Given the description of an element on the screen output the (x, y) to click on. 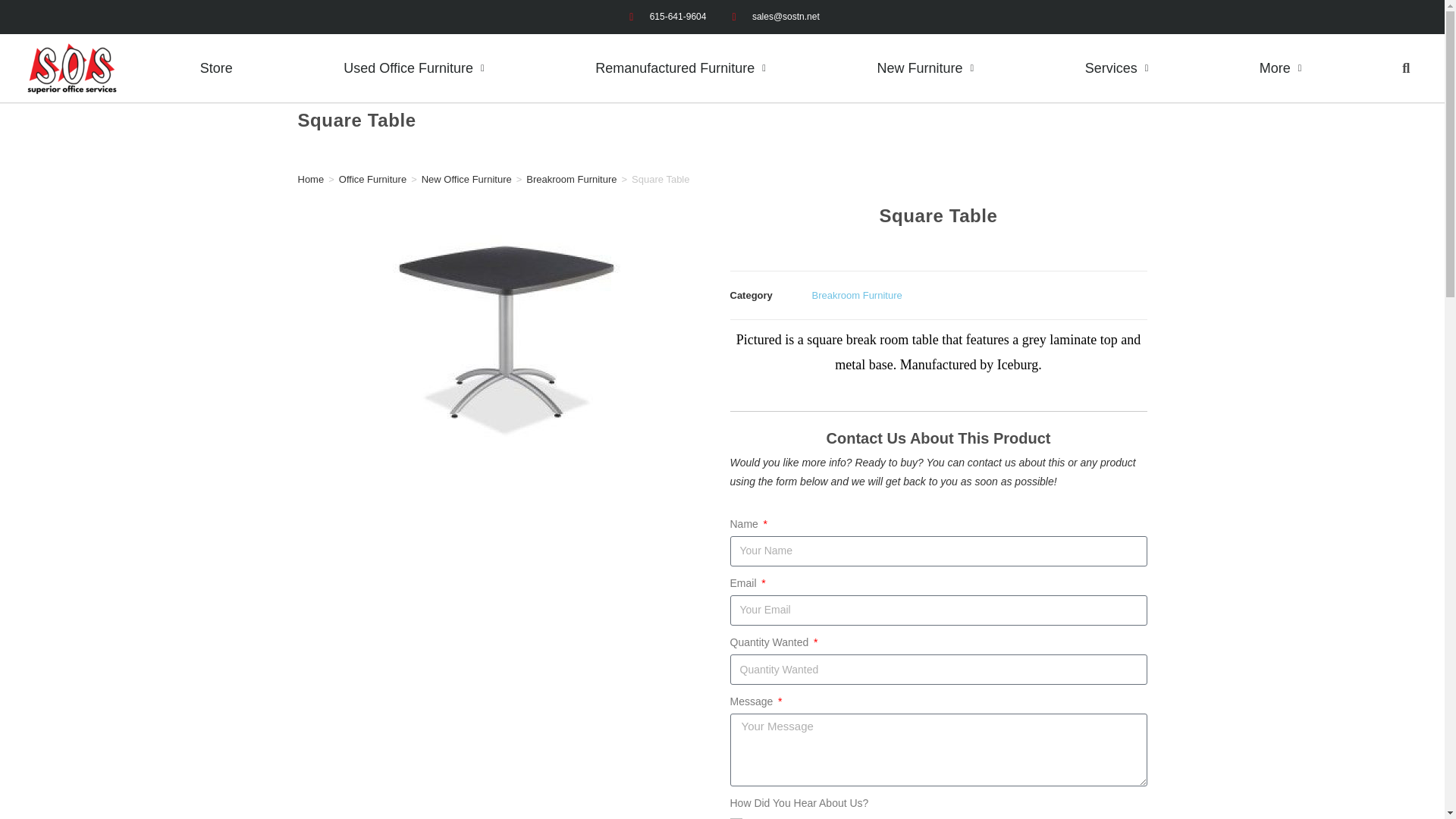
Remanufactured Furniture (680, 68)
New Furniture (925, 68)
Used Office Furniture (414, 68)
Services (1116, 68)
Square-Breakroom-Table-Custom.jpg (506, 331)
More (1280, 68)
Store (216, 68)
